Given the description of an element on the screen output the (x, y) to click on. 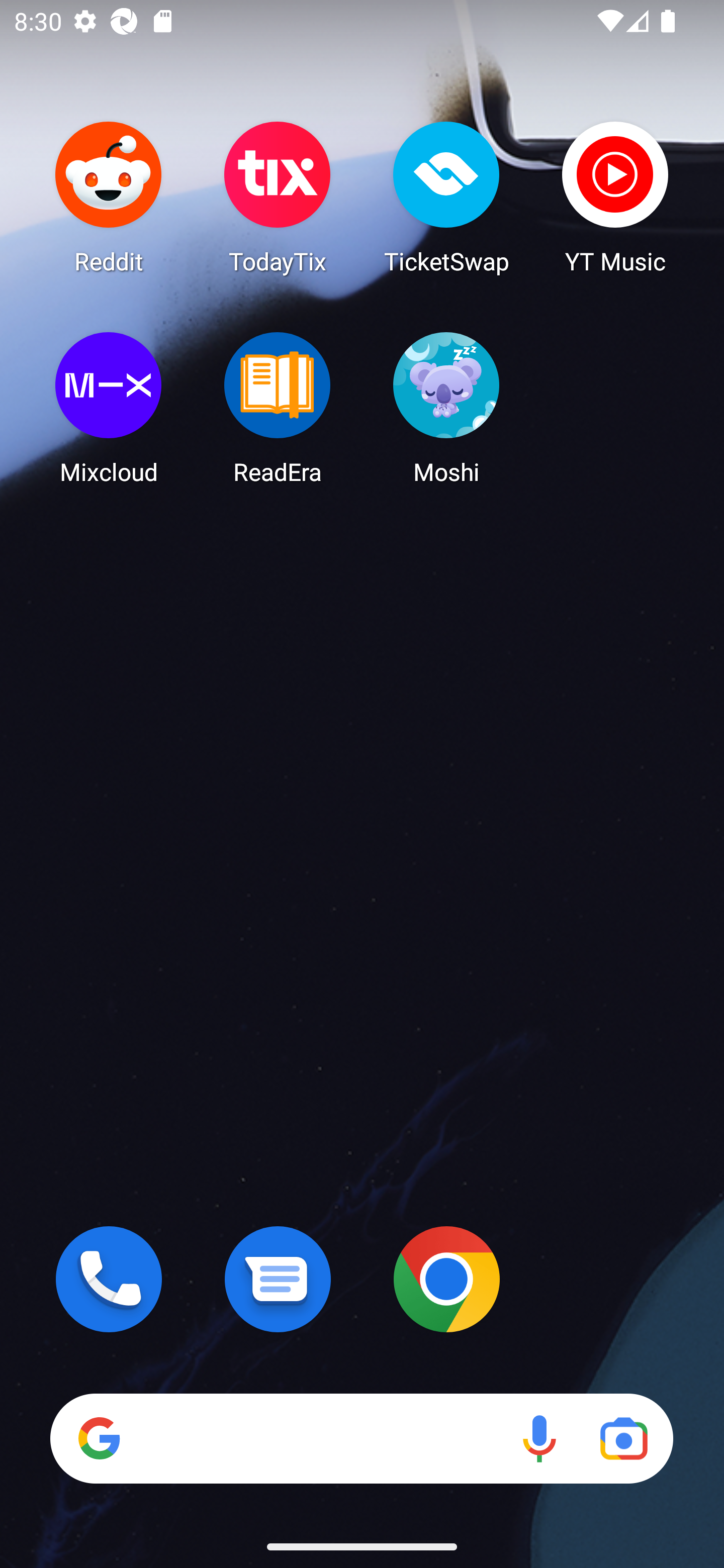
Reddit (108, 196)
TodayTix (277, 196)
TicketSwap (445, 196)
YT Music (615, 196)
Mixcloud (108, 407)
ReadEra (277, 407)
Moshi (445, 407)
Phone (108, 1279)
Messages (277, 1279)
Chrome (446, 1279)
Voice search (539, 1438)
Google Lens (623, 1438)
